Given the description of an element on the screen output the (x, y) to click on. 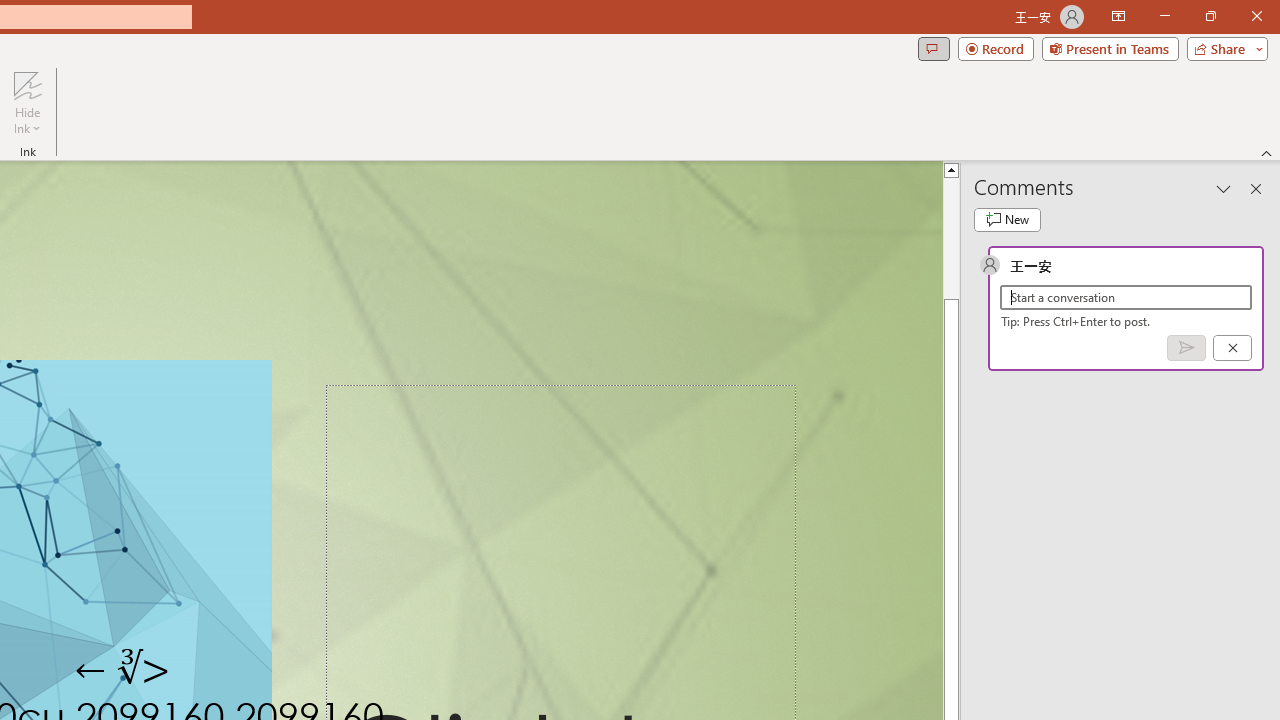
New comment (1007, 219)
Cancel (1232, 347)
Start a conversation (1126, 297)
Post comment (Ctrl + Enter) (1186, 347)
